Given the description of an element on the screen output the (x, y) to click on. 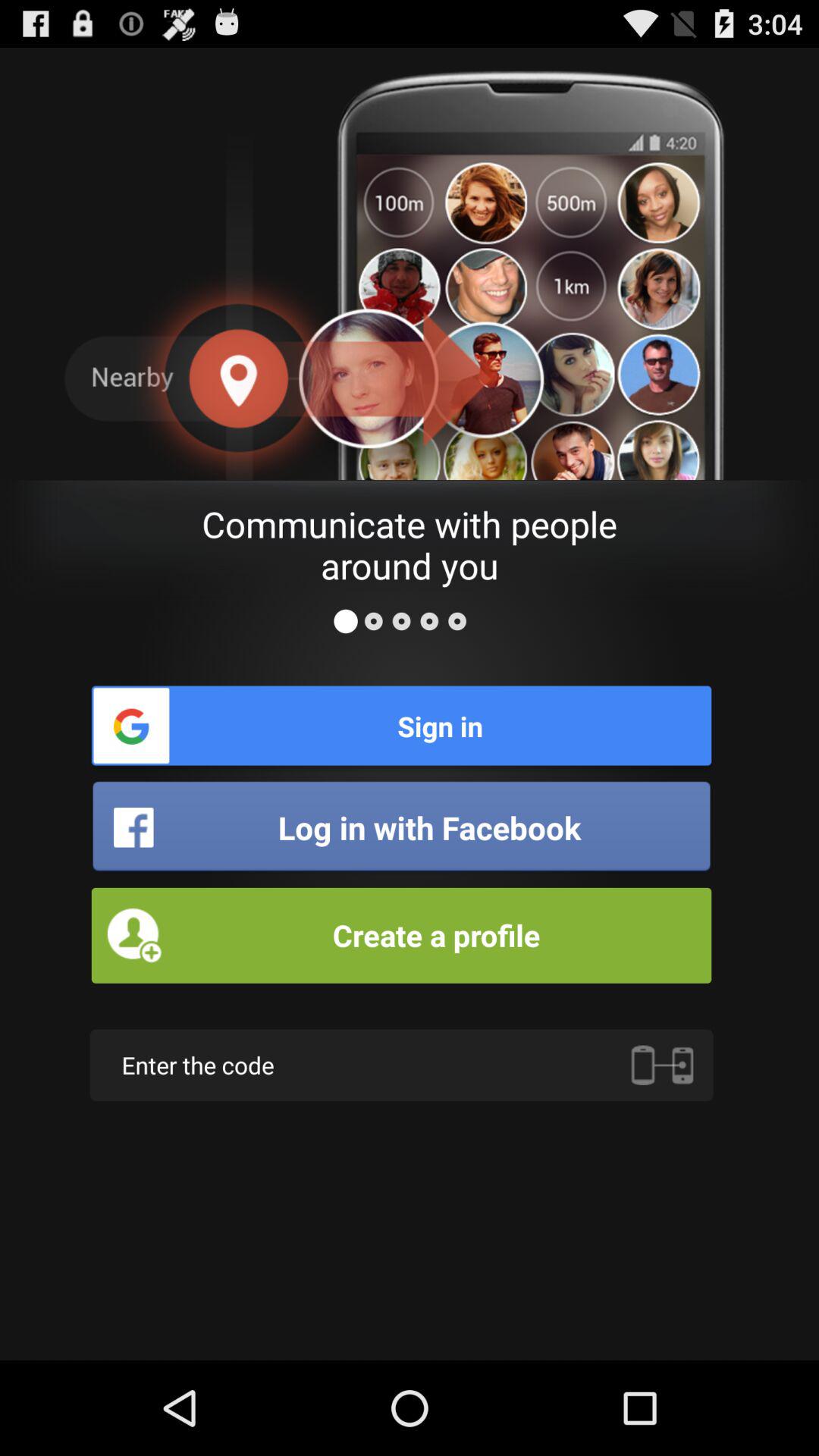
turn off icon below the create a profile button (401, 1065)
